Given the description of an element on the screen output the (x, y) to click on. 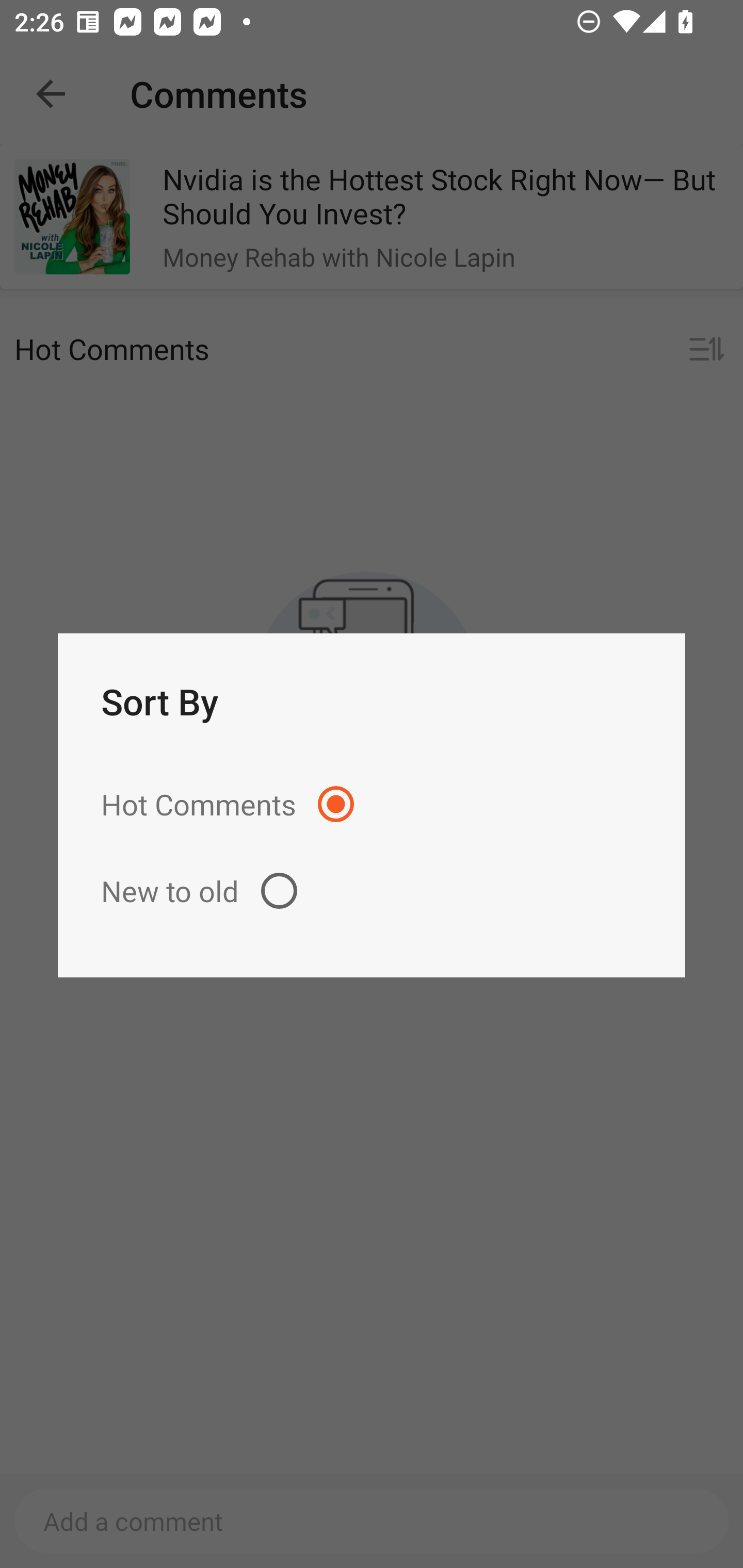
Hot Comments (371, 803)
New to old (371, 890)
